Given the description of an element on the screen output the (x, y) to click on. 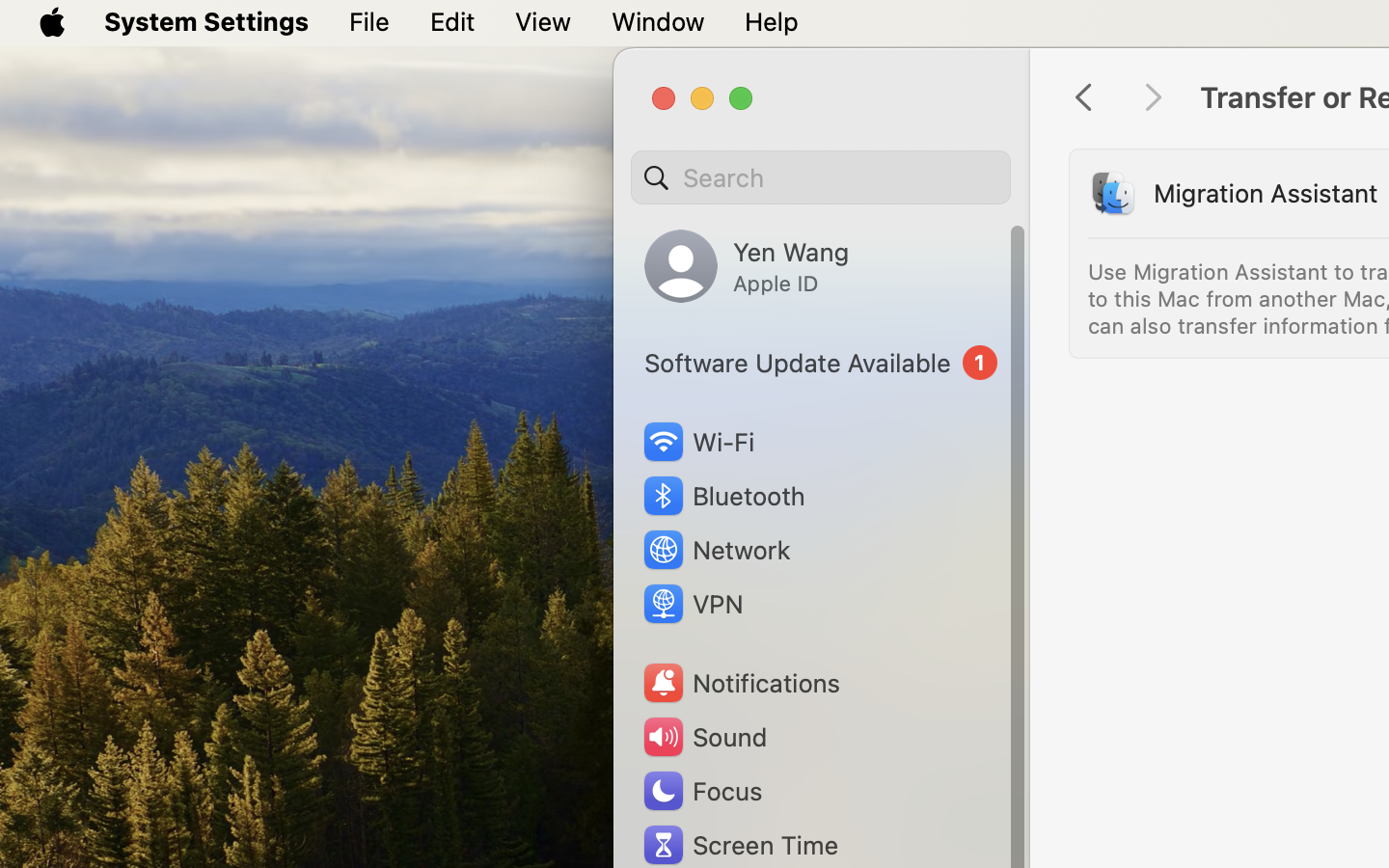
Network Element type: AXStaticText (715, 549)
VPN Element type: AXStaticText (691, 603)
Yen Wang, Apple ID Element type: AXStaticText (746, 265)
Sound Element type: AXStaticText (703, 736)
1 Element type: AXStaticText (820, 362)
